Given the description of an element on the screen output the (x, y) to click on. 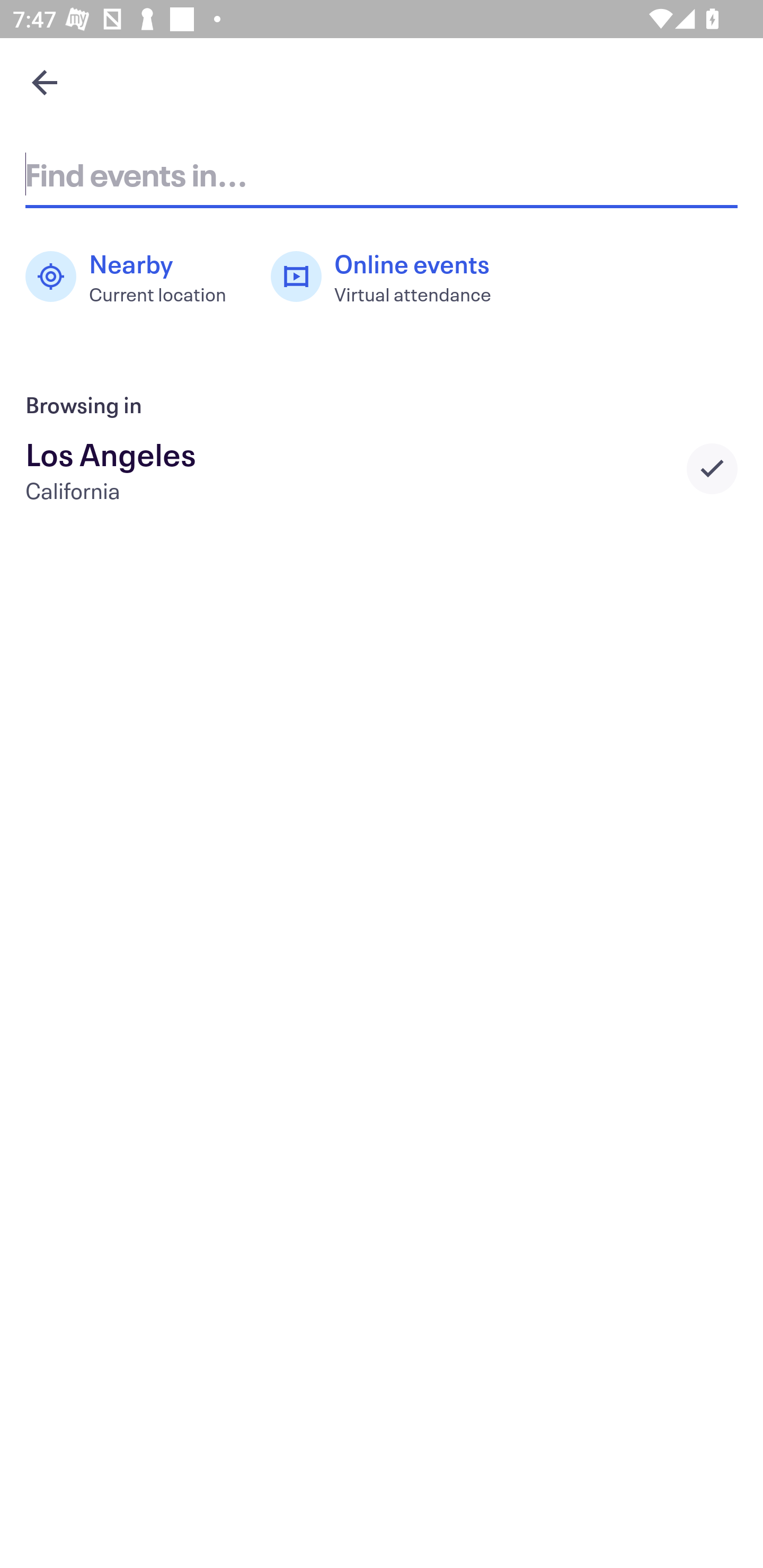
Navigate up (44, 82)
Find events in... (381, 173)
Nearby Current location (135, 276)
Online events Virtual attendance (390, 276)
Los Angeles California Selected city (381, 468)
